Given the description of an element on the screen output the (x, y) to click on. 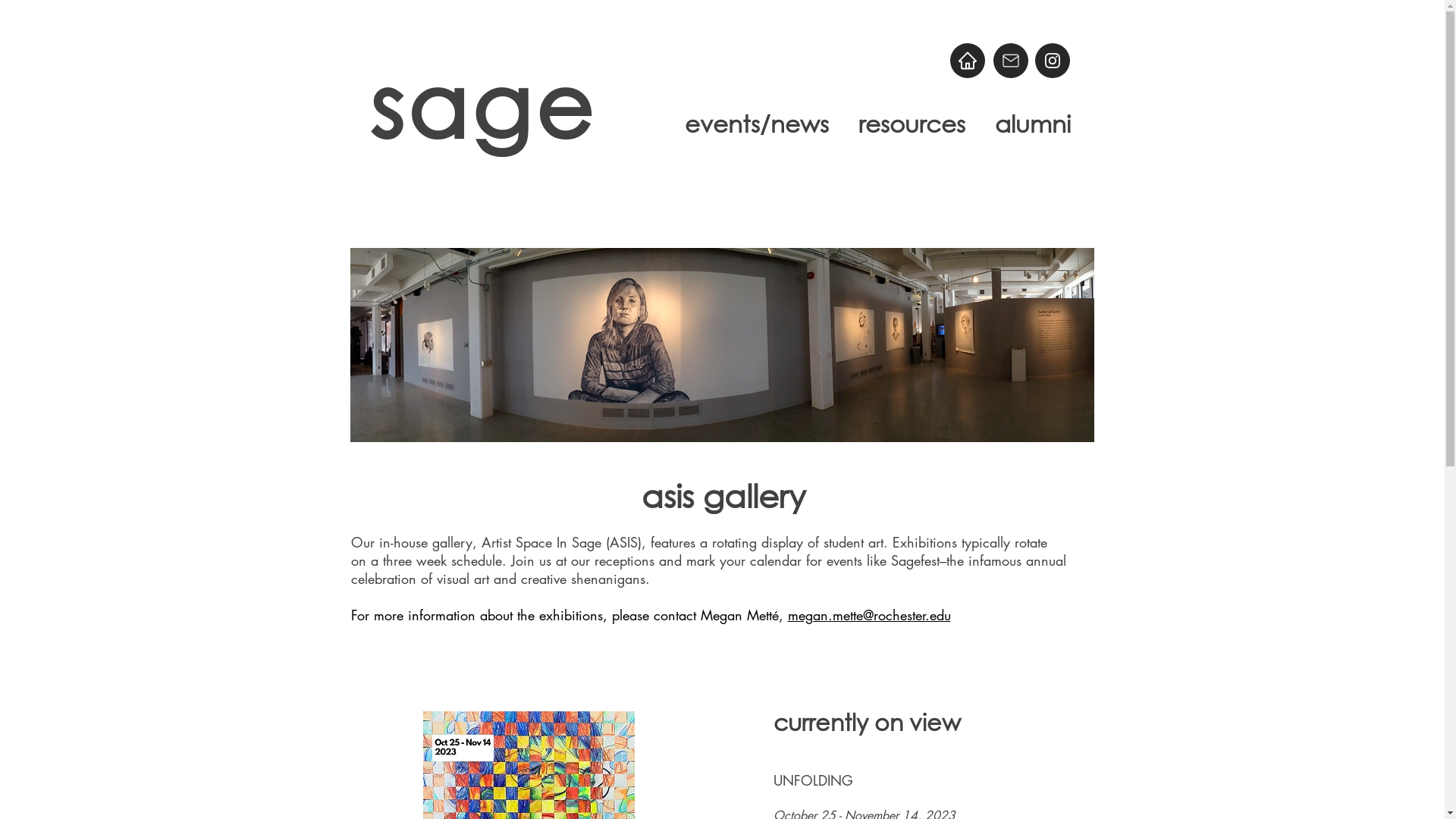
resources Element type: text (911, 123)
events/news Element type: text (755, 123)
alumni Element type: text (1032, 123)
megan.mette@rochester.edu Element type: text (868, 614)
